Given the description of an element on the screen output the (x, y) to click on. 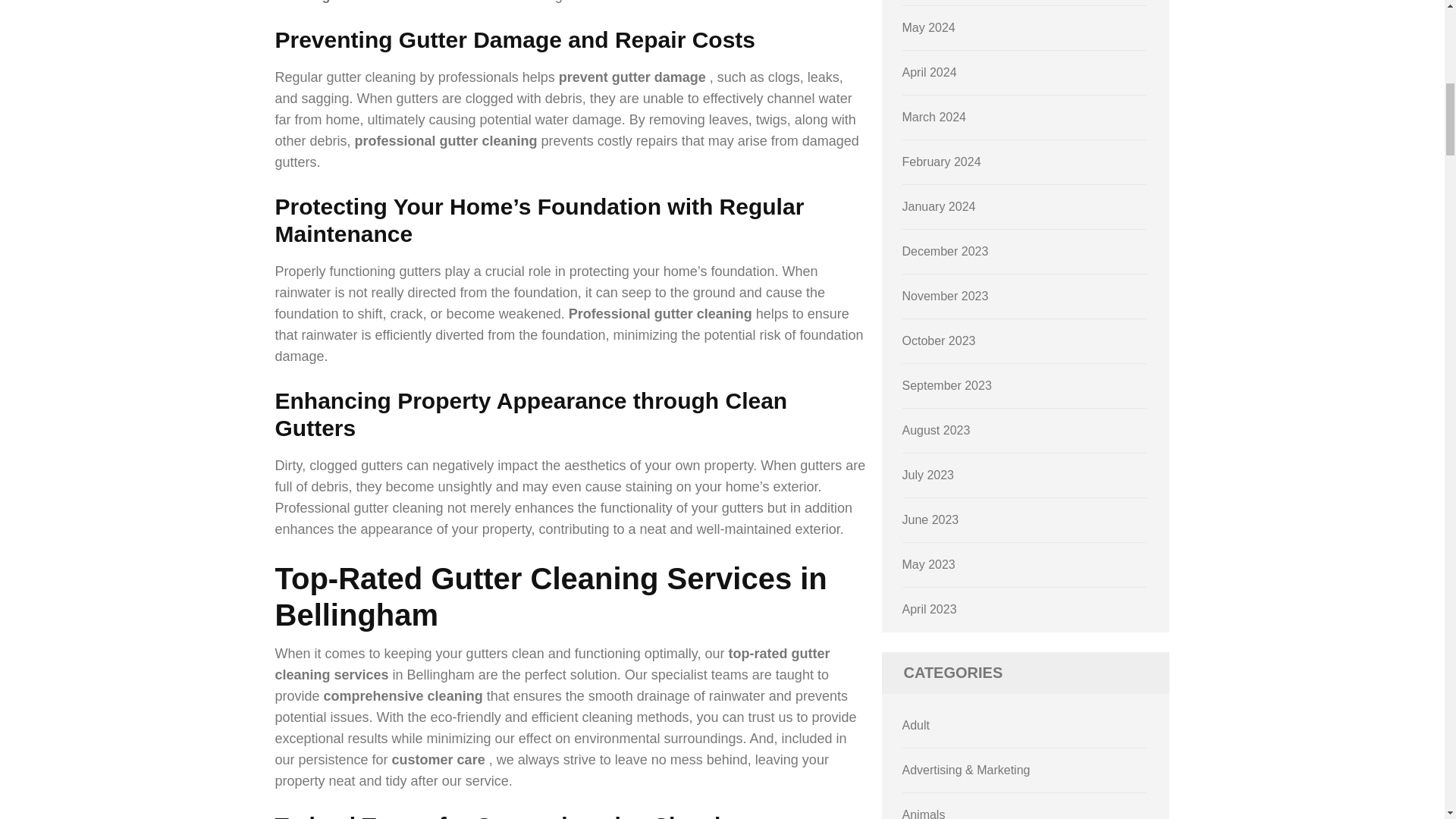
May 2023 (928, 563)
April 2023 (929, 608)
March 2024 (934, 116)
February 2024 (941, 161)
August 2023 (936, 430)
June 2023 (930, 519)
December 2023 (945, 250)
October 2023 (938, 340)
January 2024 (938, 205)
November 2023 (945, 295)
